Given the description of an element on the screen output the (x, y) to click on. 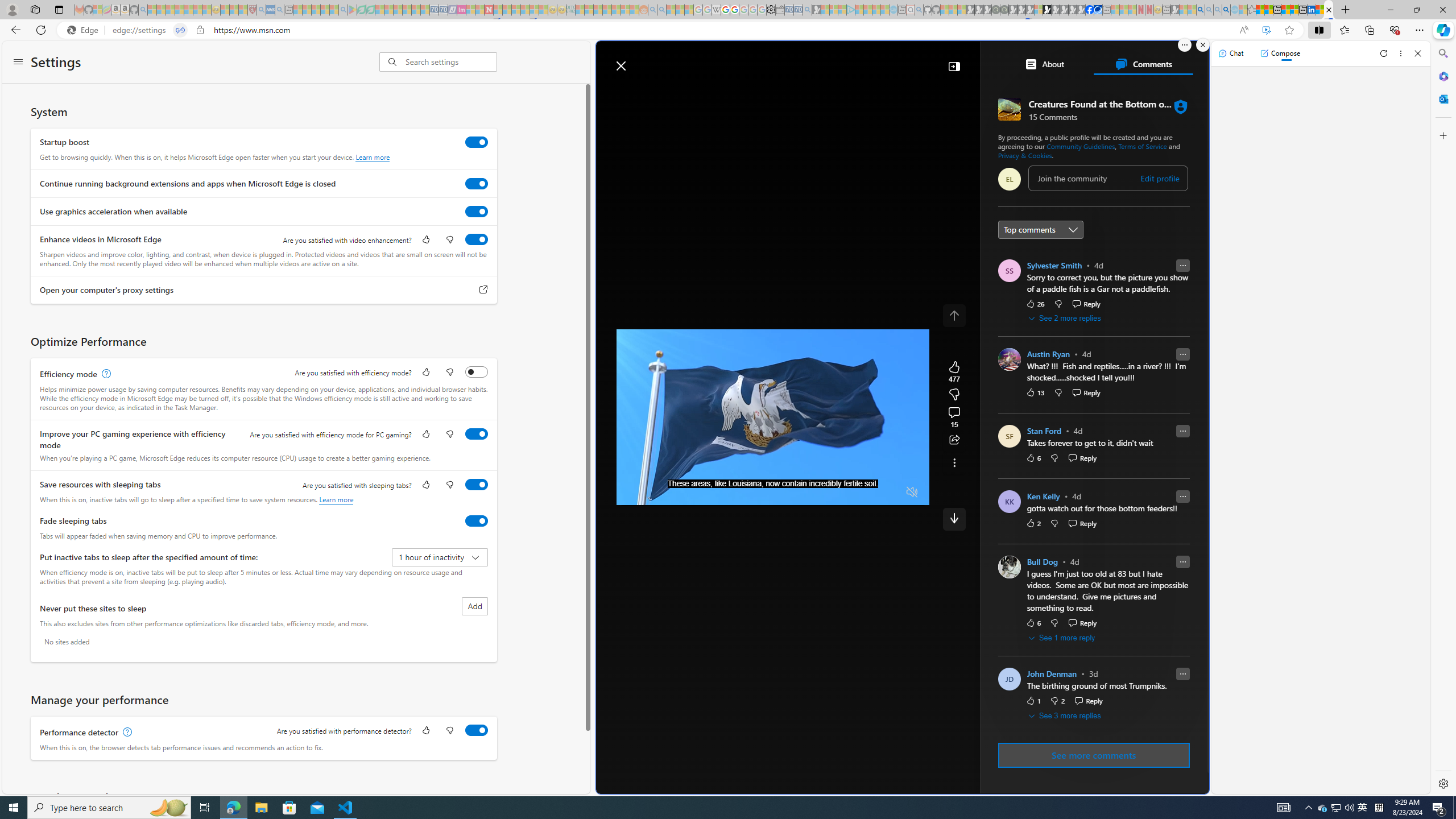
Performance detector, learn more (126, 732)
26 Like (1034, 303)
Open your computer's proxy settings (483, 290)
Sylvester Smith (1053, 265)
Efficiency mode (476, 371)
